Given the description of an element on the screen output the (x, y) to click on. 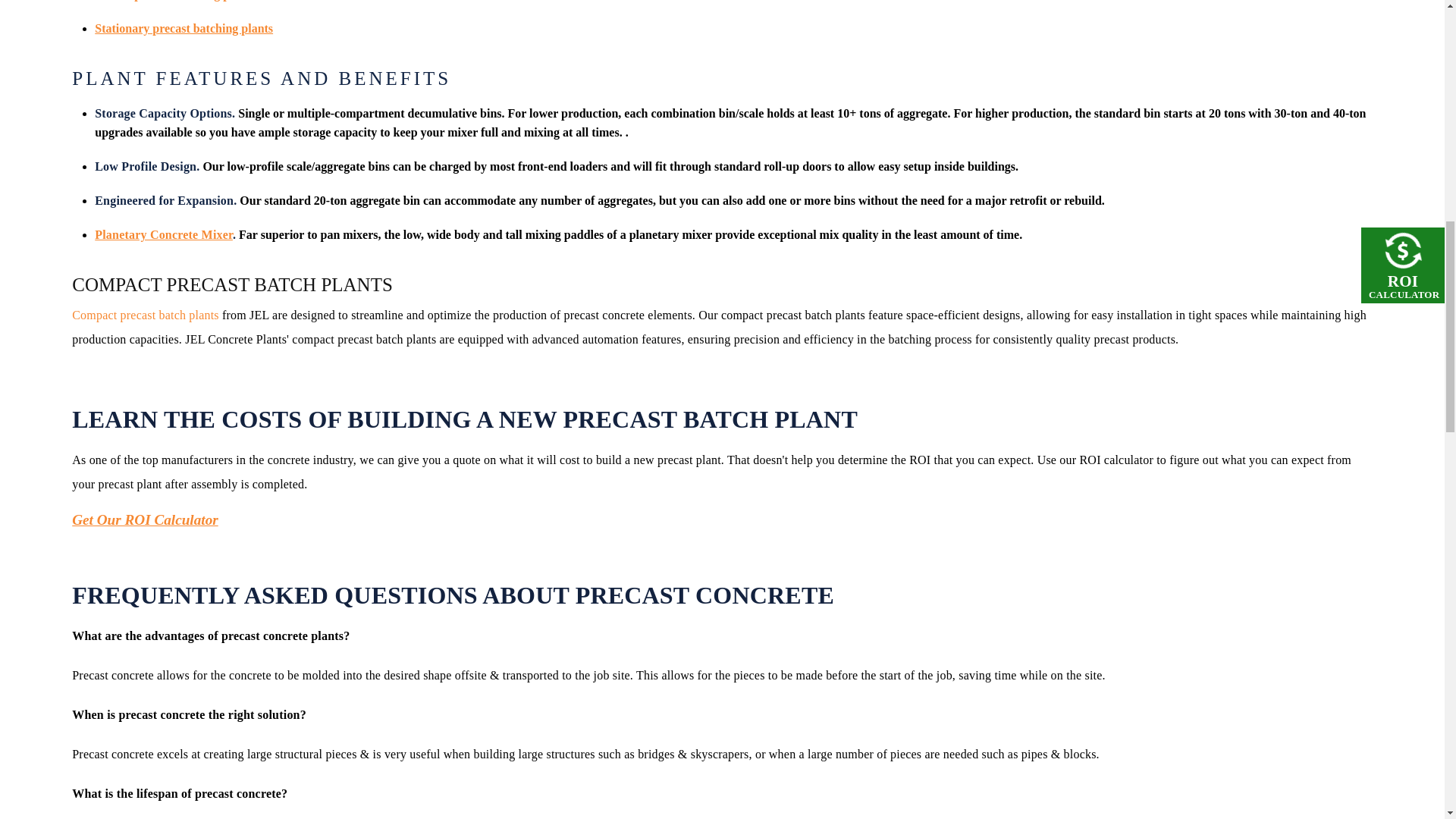
Compact precast batch plants (145, 314)
Planetary Concrete Mixer (163, 234)
Stationary precast batching plants (183, 28)
Get Our ROI Calculator (143, 519)
